Given the description of an element on the screen output the (x, y) to click on. 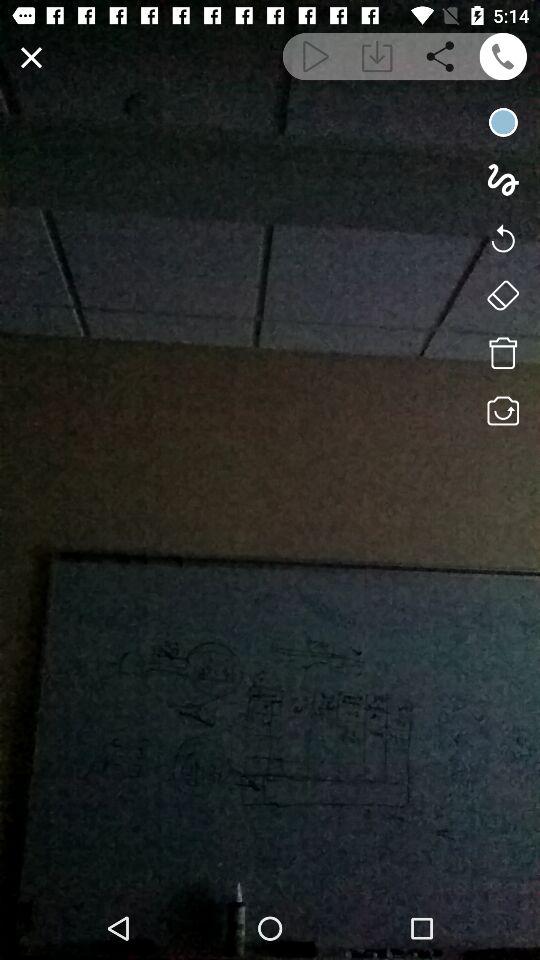
share the image (439, 56)
